Given the description of an element on the screen output the (x, y) to click on. 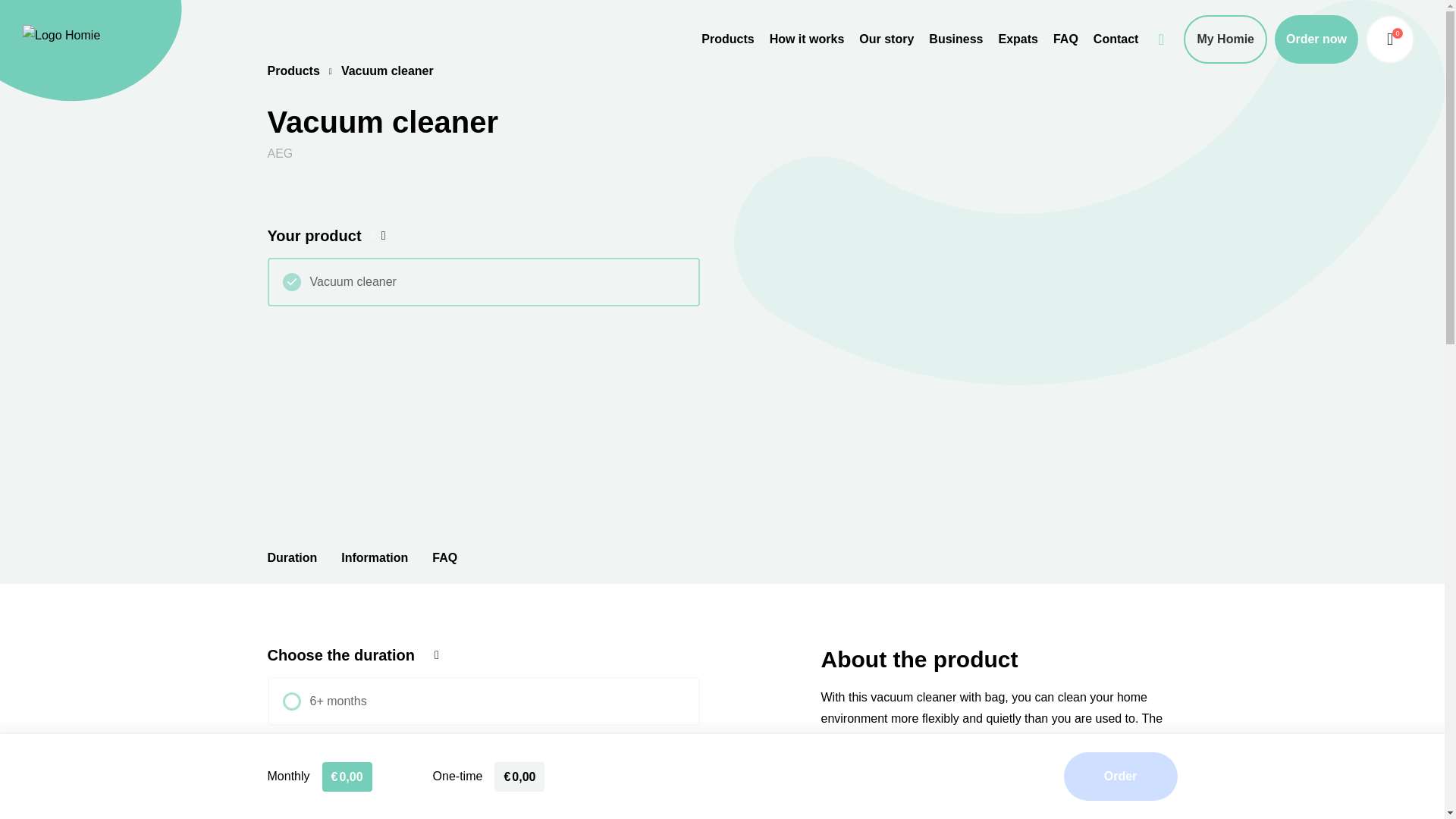
0 (1389, 39)
Duration (291, 557)
Order (1119, 776)
Products (727, 38)
How it works (806, 38)
Whatsapp (1160, 33)
Products (292, 70)
Expats (1017, 38)
My Homie (1224, 39)
Business (955, 38)
